Given the description of an element on the screen output the (x, y) to click on. 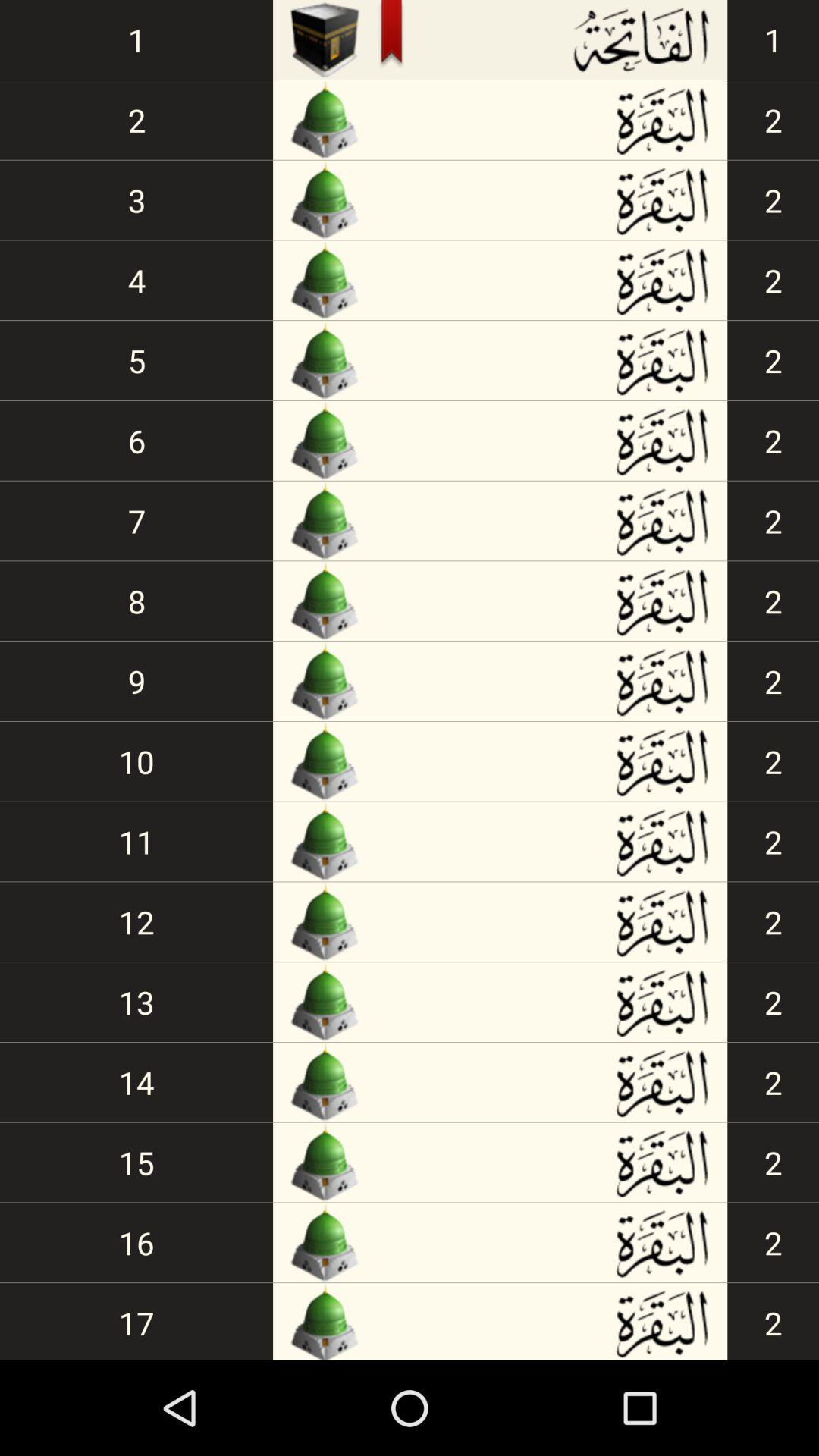
scroll to the 6 icon (136, 440)
